Given the description of an element on the screen output the (x, y) to click on. 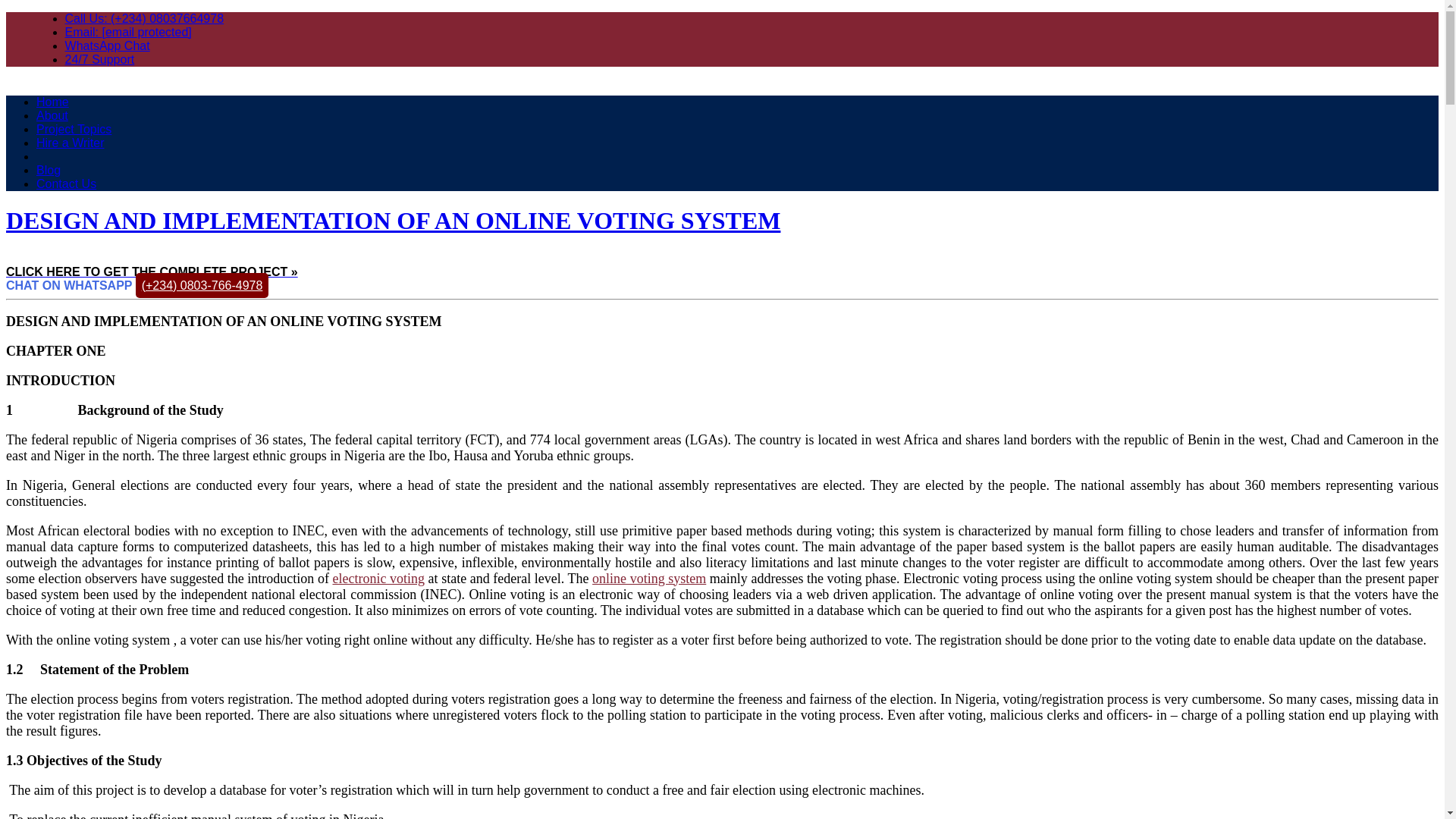
Home (52, 101)
electronic voting (378, 578)
Project Topics (74, 128)
About (52, 115)
Hire a Writer (70, 142)
Contact Us (66, 183)
DESIGN AND IMPLEMENTATION OF AN ONLINE VOTING SYSTEM (392, 220)
online voting system (649, 578)
Blog (48, 169)
WhatsApp Chat (107, 45)
